Given the description of an element on the screen output the (x, y) to click on. 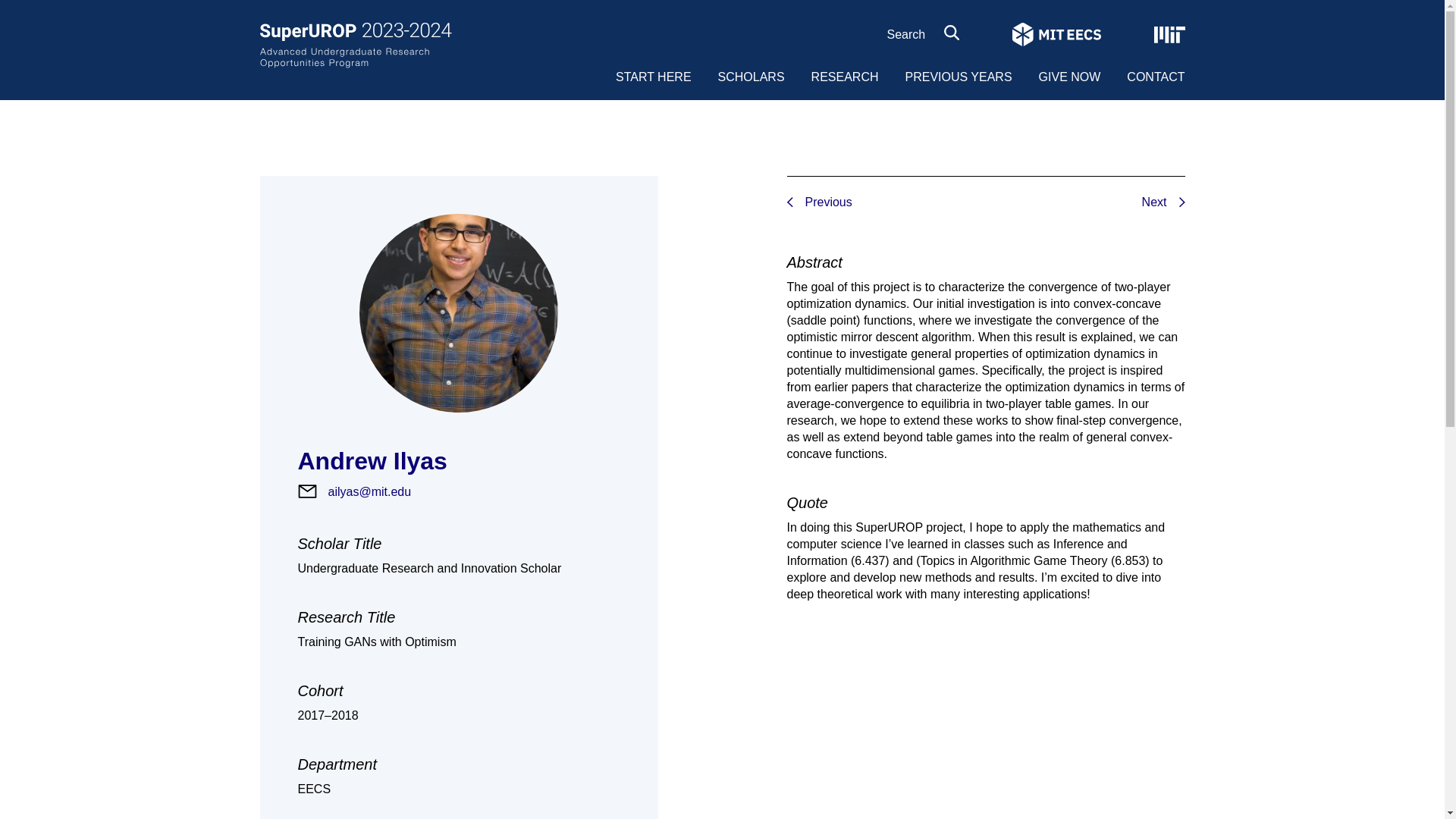
RESEARCH (844, 76)
Previous (1217, 202)
START HERE (653, 76)
PREVIOUS YEARS (957, 76)
GIVE NOW (1069, 76)
CONTACT (1155, 76)
SCHOLARS (750, 76)
